Given the description of an element on the screen output the (x, y) to click on. 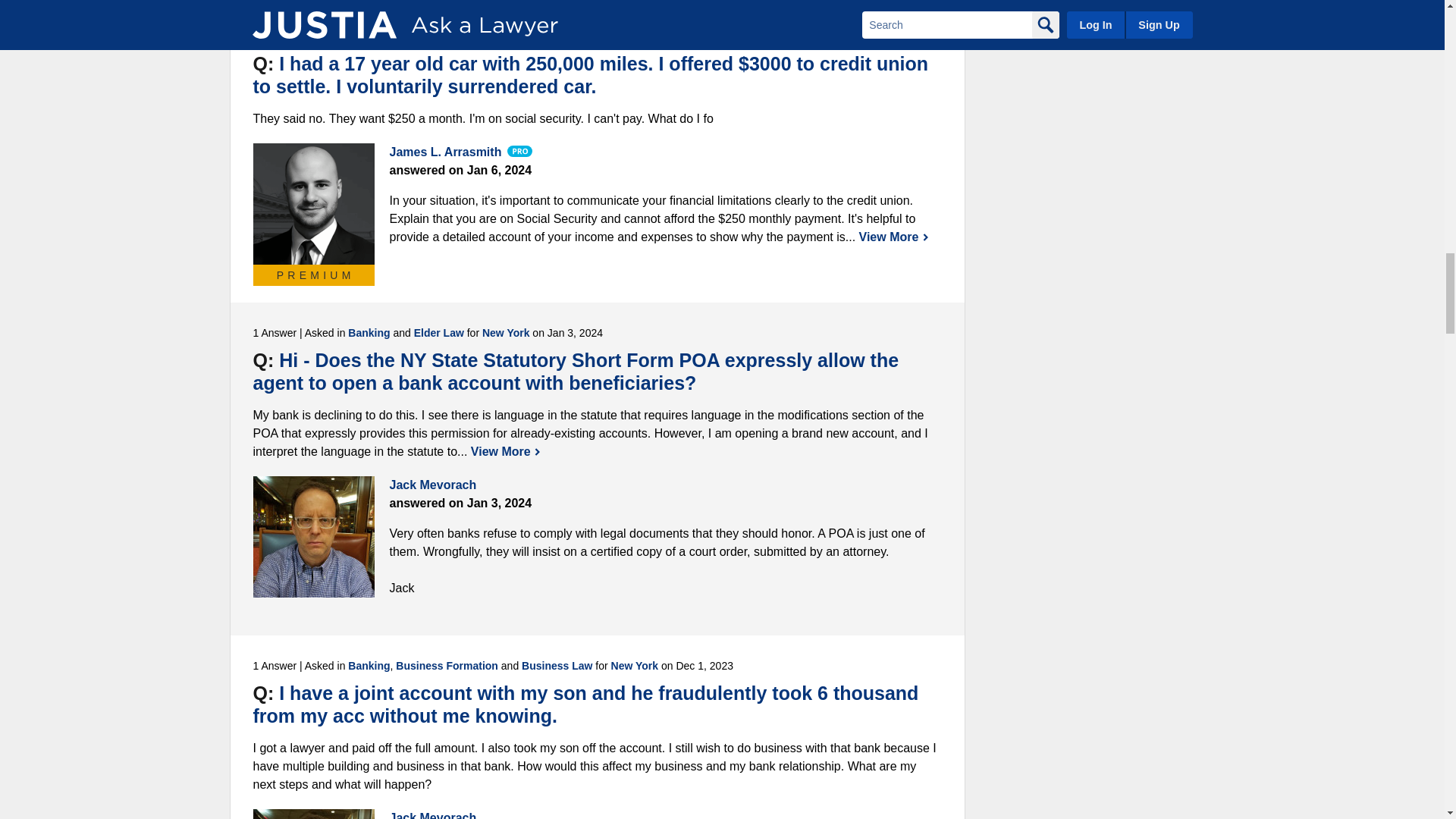
Jack Mevorach (313, 536)
James L. Arrasmith (313, 203)
Jack Mevorach (313, 814)
